Given the description of an element on the screen output the (x, y) to click on. 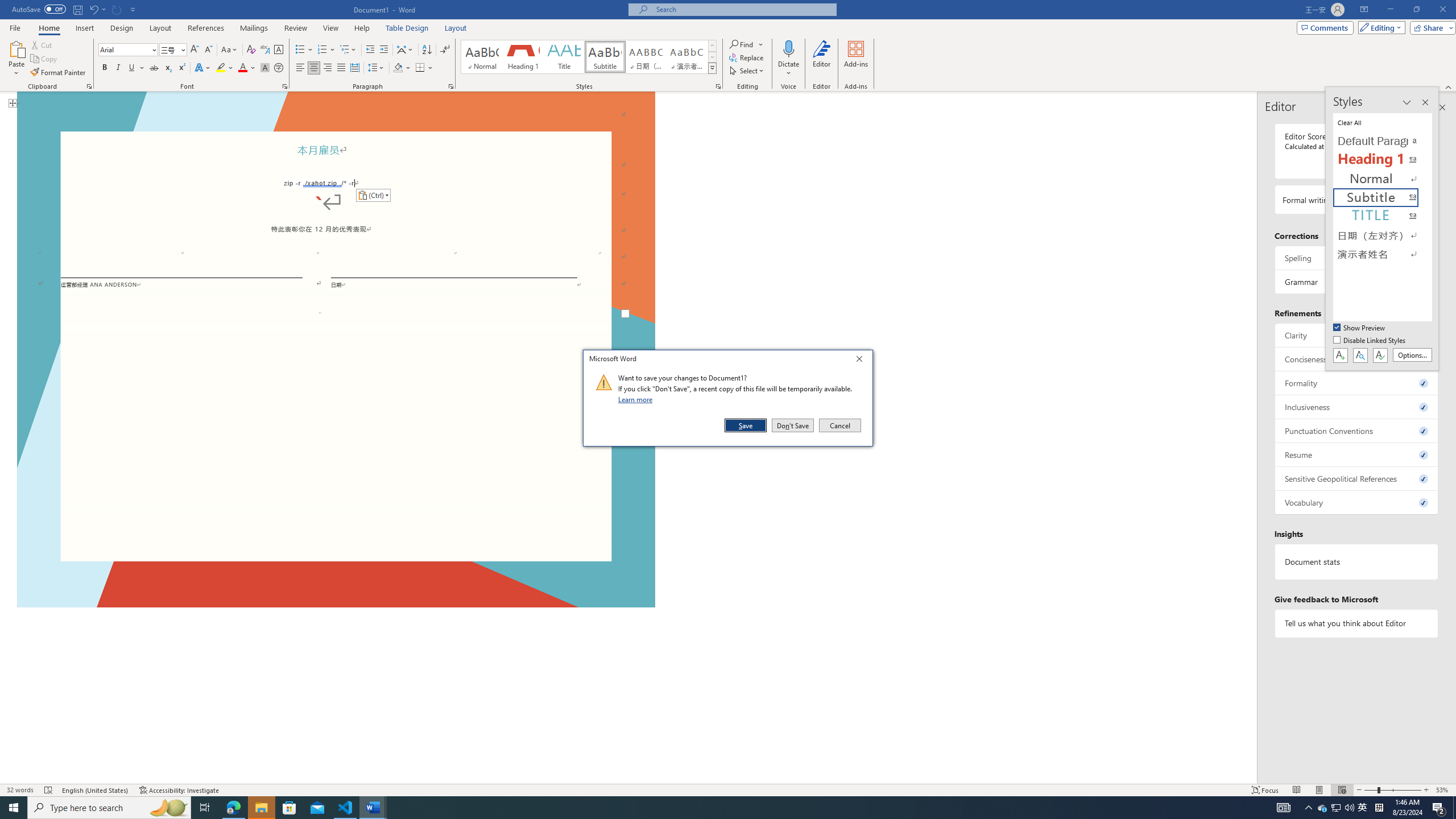
Microsoft Edge - 1 running window (233, 807)
Undo Paste (96, 9)
Conciseness, 0 issues. Press space or enter to review items. (1356, 359)
Grammar, 1 issue. Press space or enter to review items. (1356, 281)
